Given the description of an element on the screen output the (x, y) to click on. 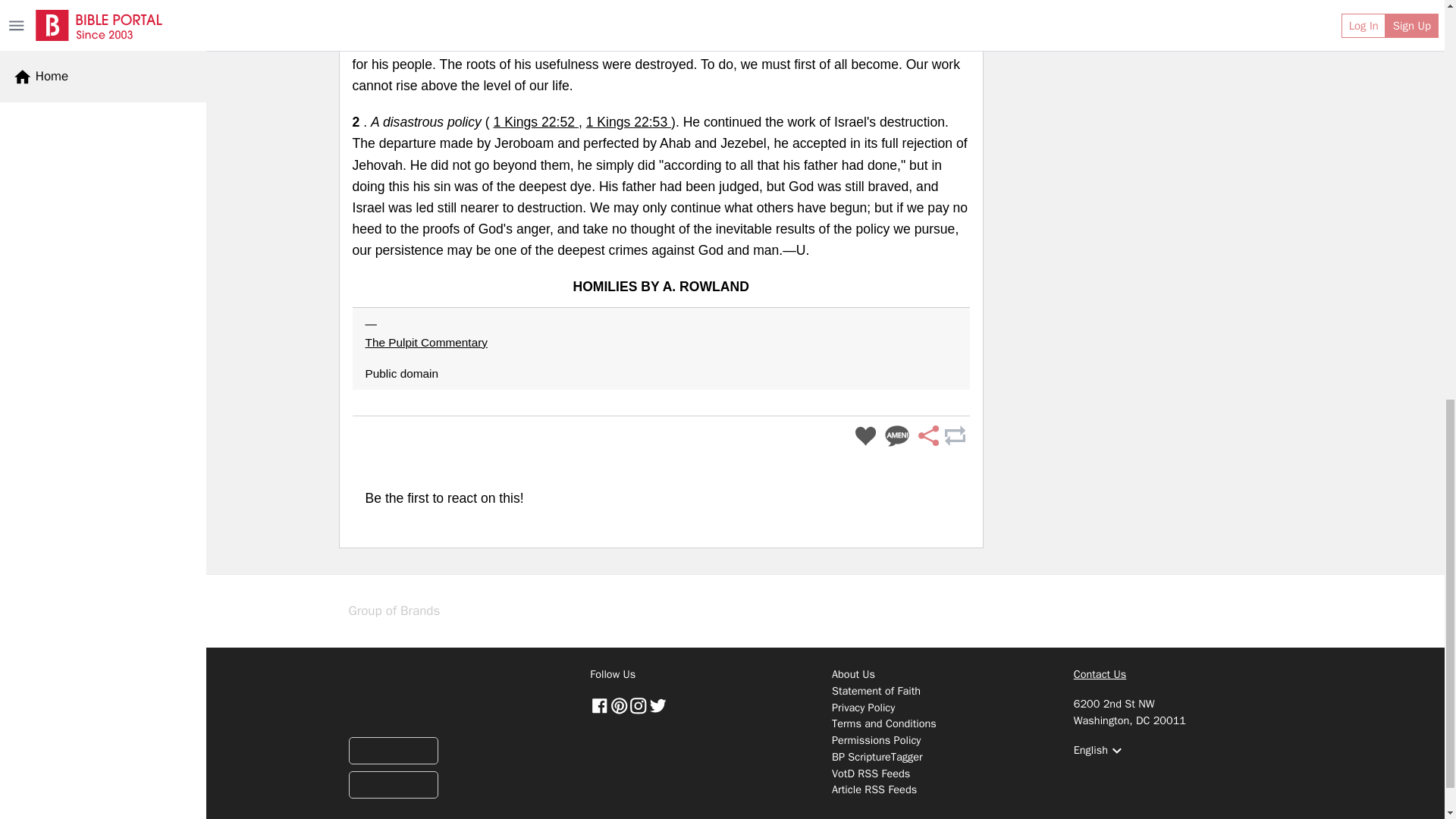
Bible Passages -  1 Kings 22:52  - click to view detail (535, 121)
Bible Passages -  1 Kings 22:53  - click to view detail (628, 121)
Amen (897, 436)
Repost (954, 436)
Like (865, 436)
